Given the description of an element on the screen output the (x, y) to click on. 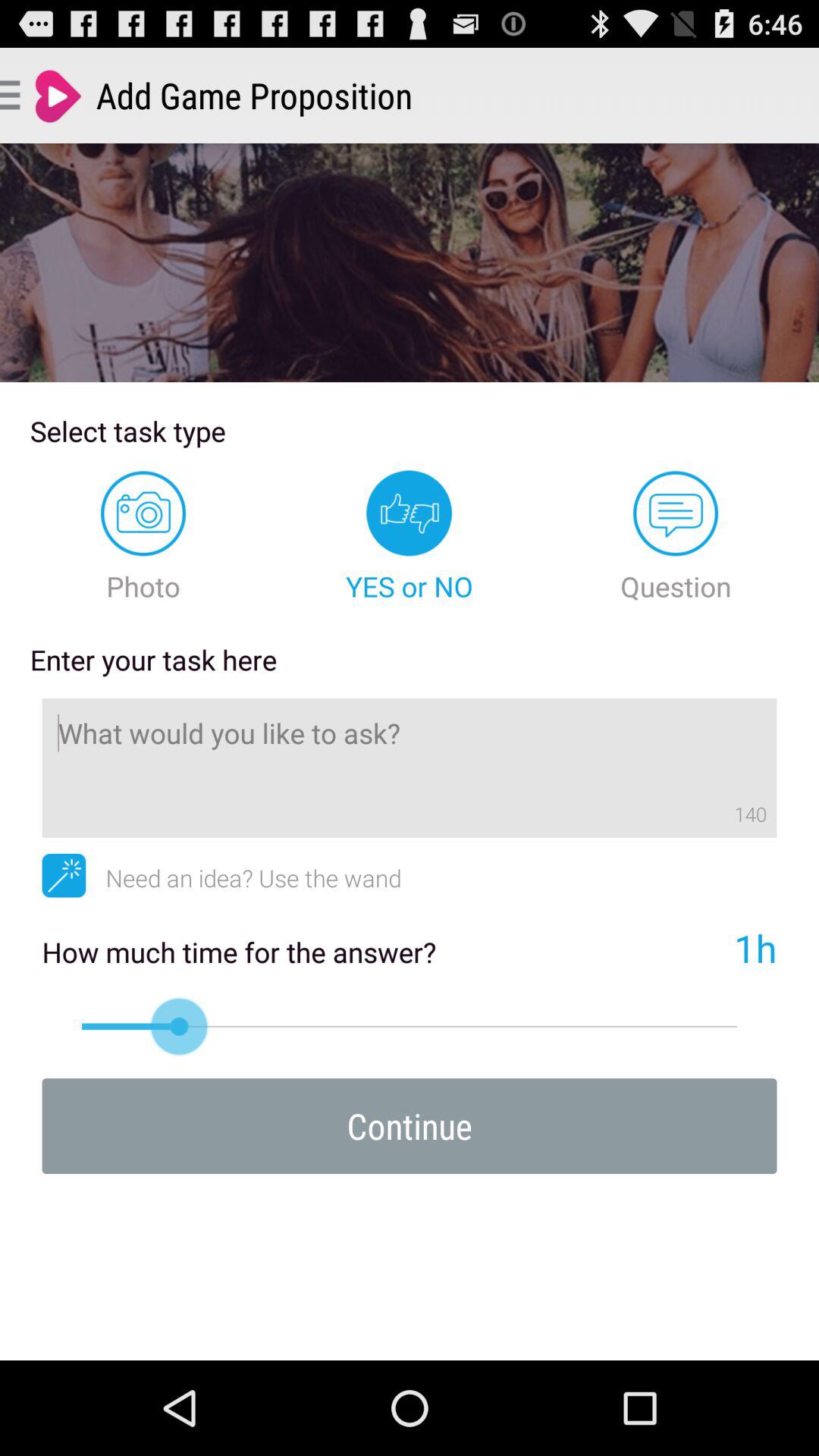
tap photo (143, 537)
